Given the description of an element on the screen output the (x, y) to click on. 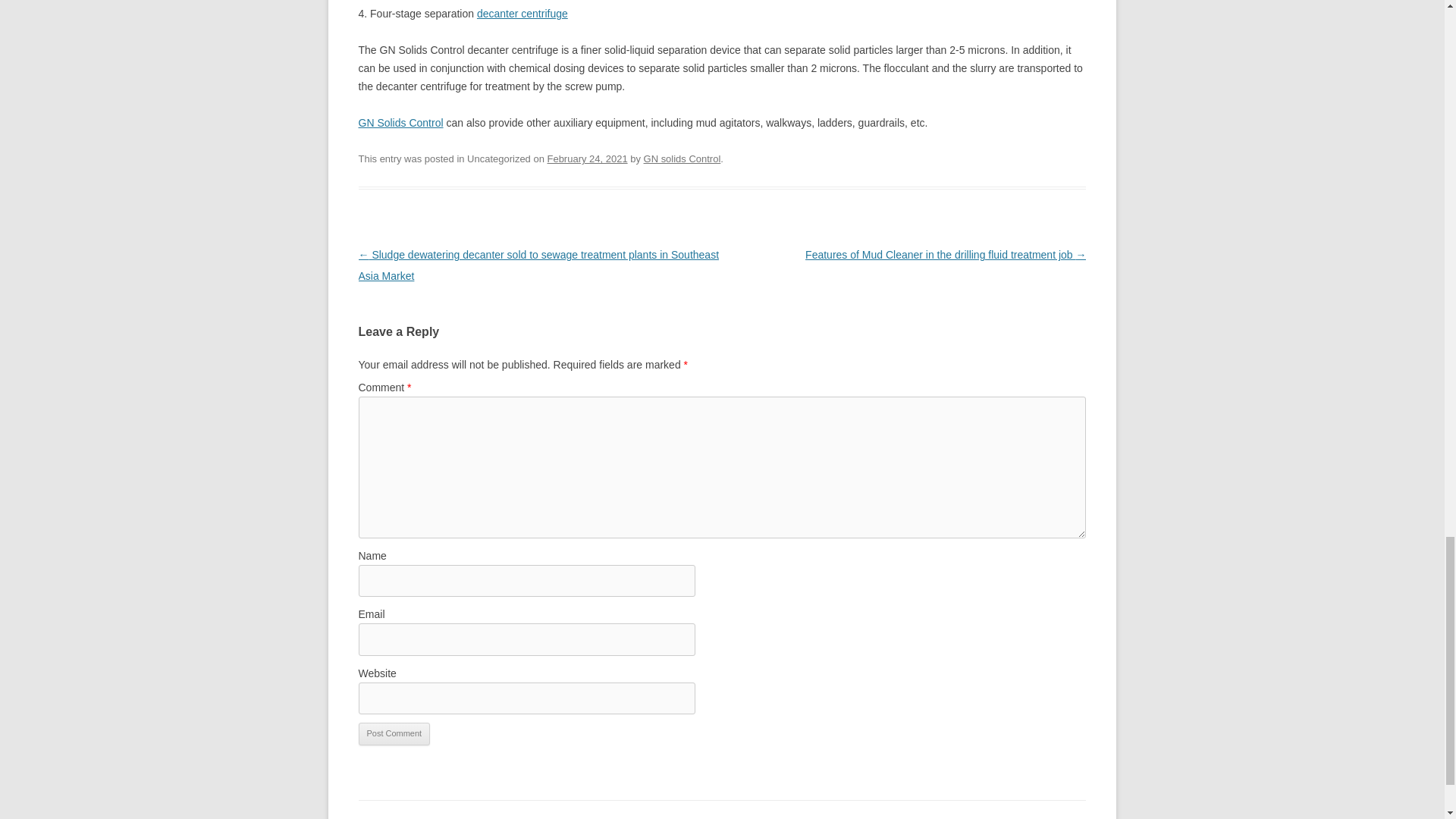
decanter centrifuge (522, 13)
Post Comment (393, 733)
GN Solids Control (400, 122)
View all posts by GN solids Control (681, 158)
Post Comment (393, 733)
7:26 pm (587, 158)
GN solids Control (681, 158)
February 24, 2021 (587, 158)
